Given the description of an element on the screen output the (x, y) to click on. 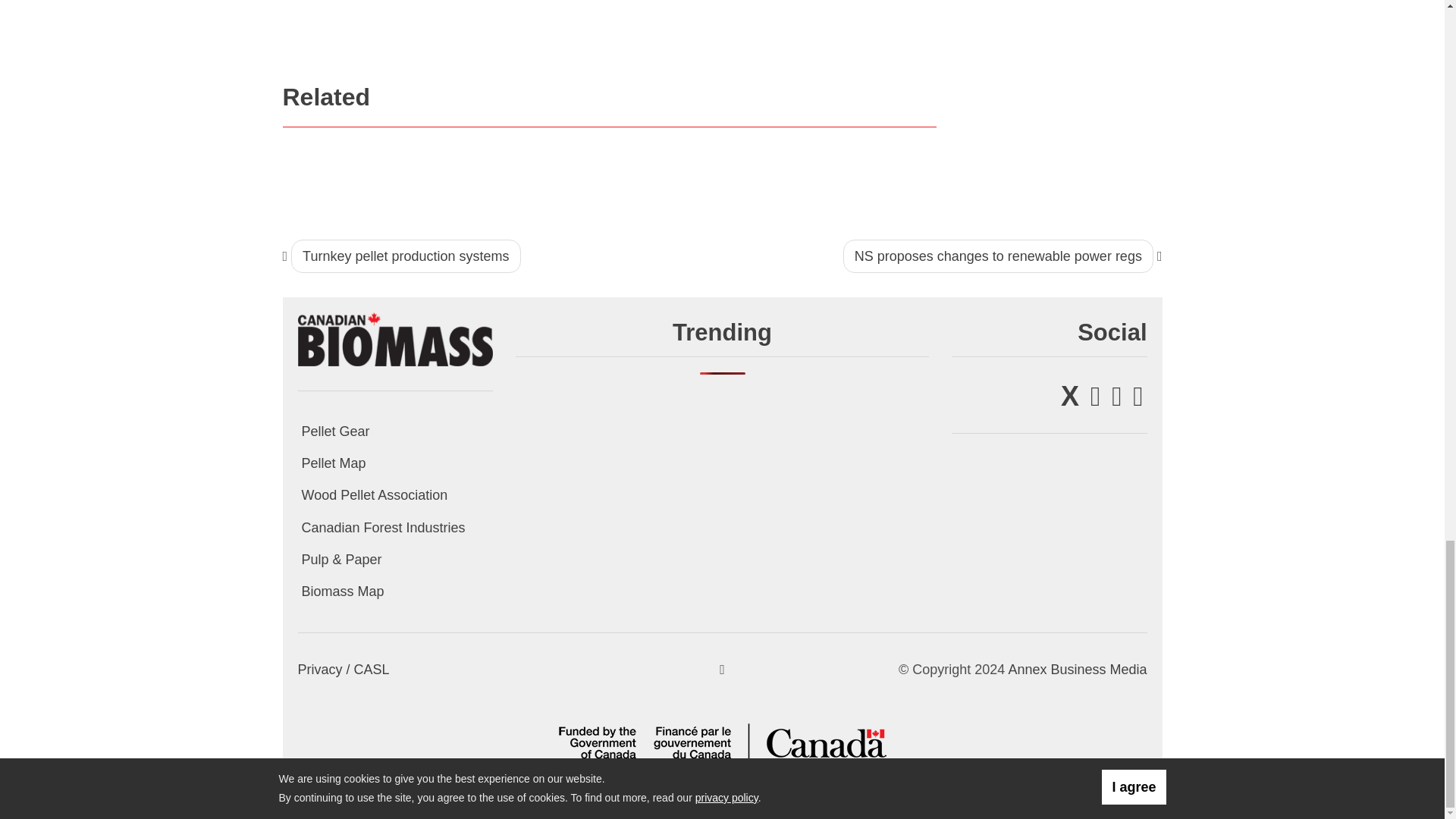
Annex Business Media (1077, 669)
Canadian Biomass Magazine (395, 337)
